Given the description of an element on the screen output the (x, y) to click on. 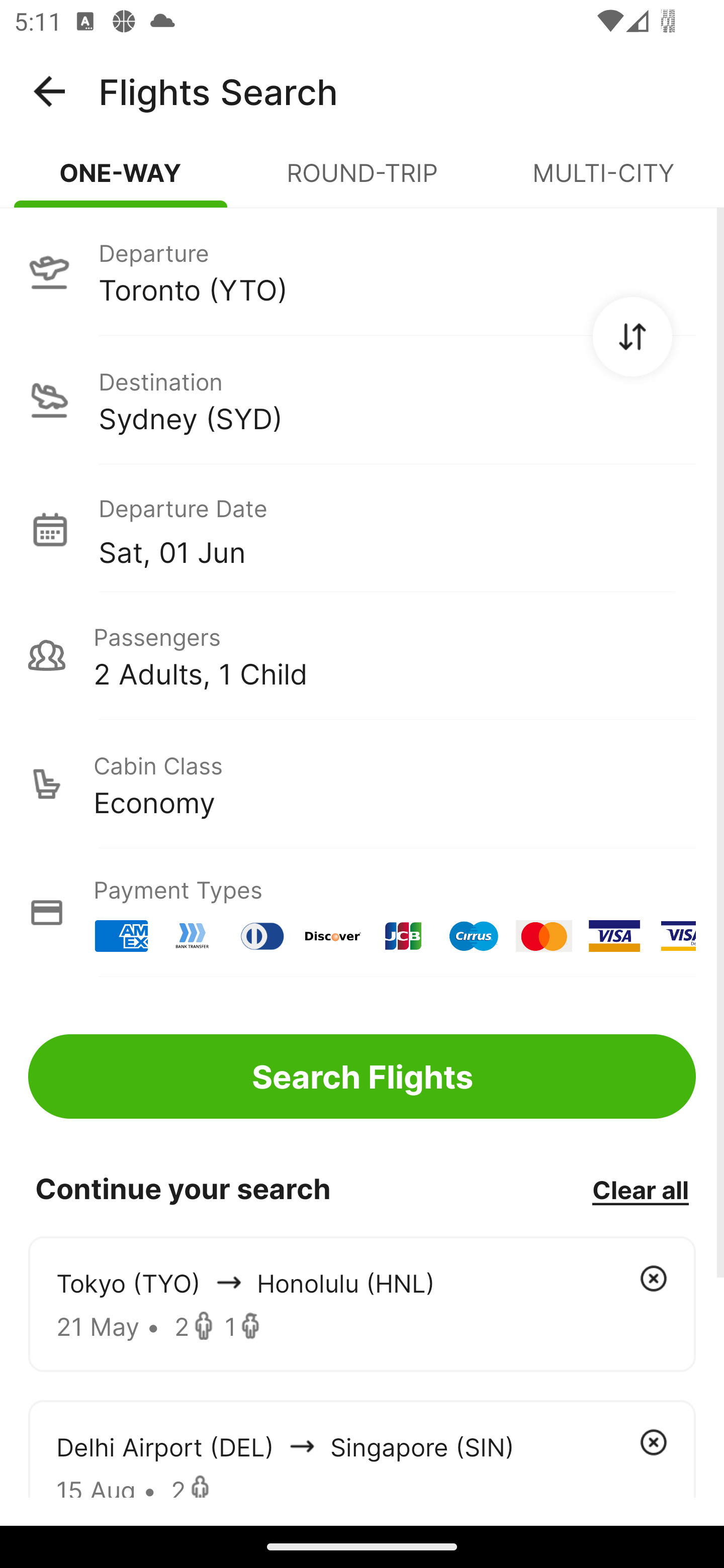
ONE-WAY (120, 180)
ROUND-TRIP (361, 180)
MULTI-CITY (603, 180)
Departure Toronto (YTO) (362, 270)
Destination Sydney (SYD) (362, 400)
Departure Date Sat, 01 Jun (396, 528)
Passengers 2 Adults, 1 Child (362, 655)
Cabin Class Economy (362, 783)
Payment Types (362, 912)
Search Flights (361, 1075)
Clear all (640, 1189)
